Given the description of an element on the screen output the (x, y) to click on. 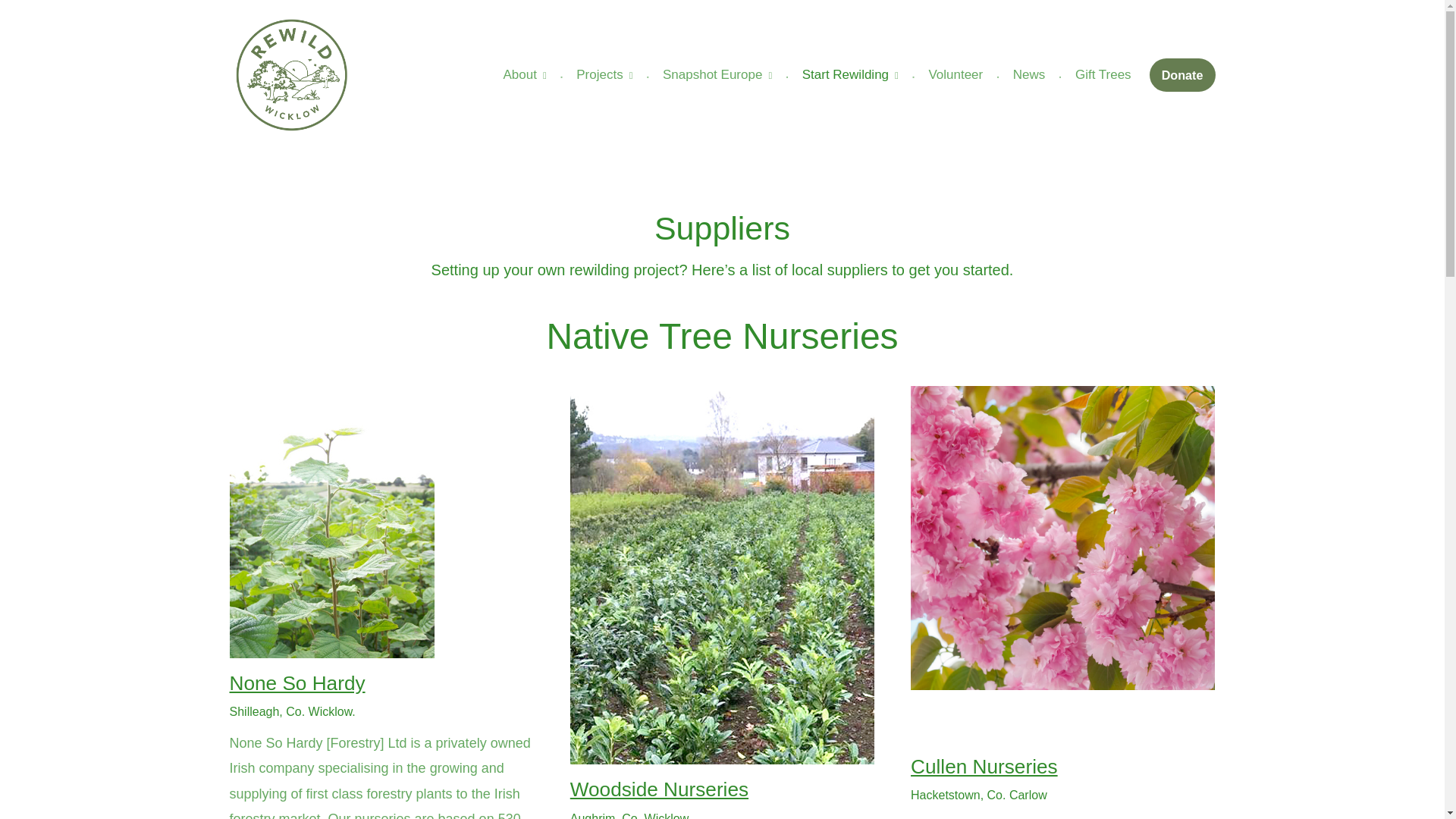
News (1029, 74)
Volunteer (954, 74)
Gift Trees (1102, 74)
